Given the description of an element on the screen output the (x, y) to click on. 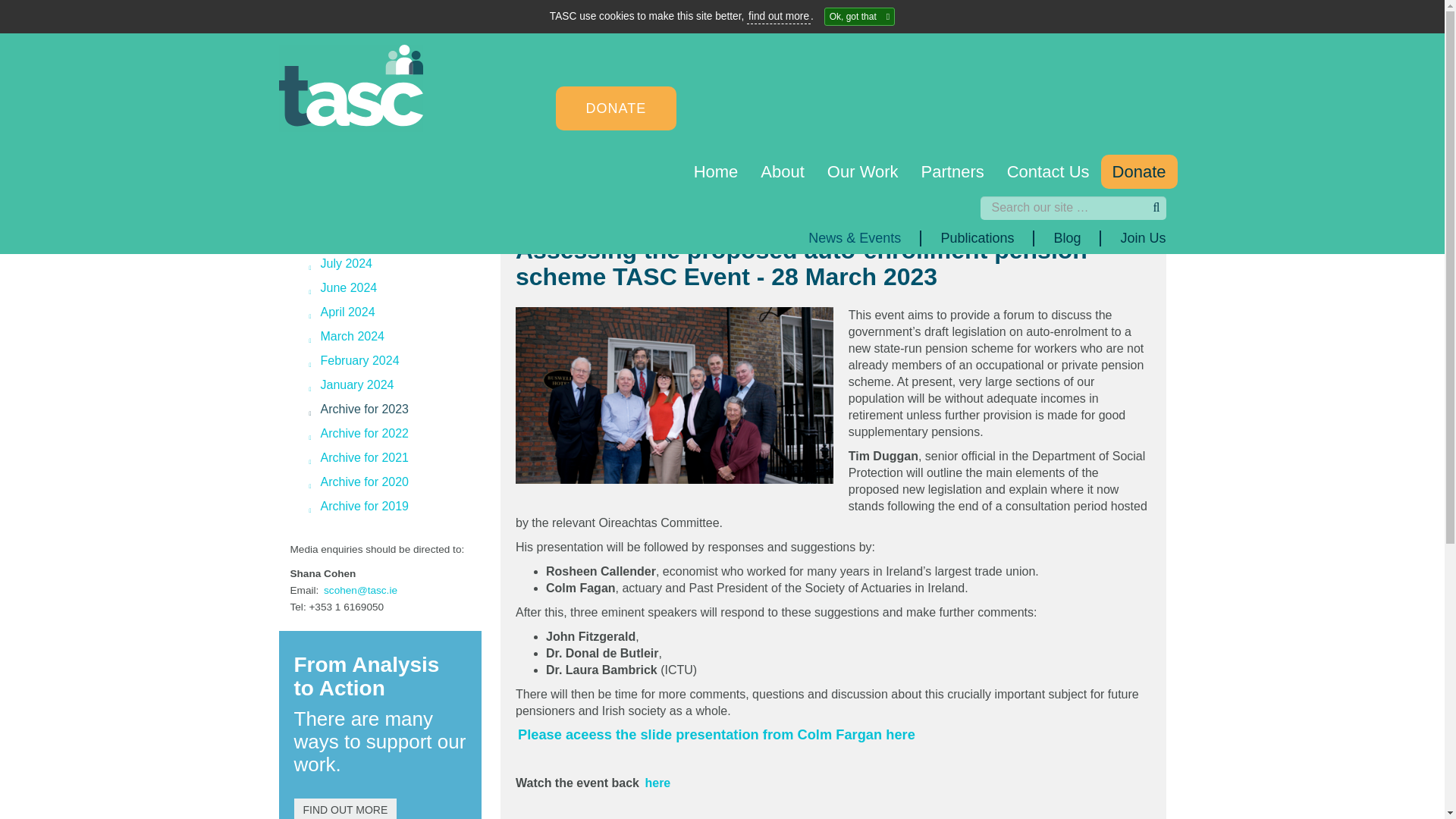
Join Us (1133, 238)
Publications (976, 238)
Home (715, 171)
Assessing the Proposed Auto-enrollment Pension Scheme Event (657, 782)
Publications (466, 196)
Please aceess the slide presentation from Colm Fargan here  (718, 733)
About (782, 171)
Ok, got that (859, 16)
DONATE (615, 108)
Blog (550, 196)
